Given the description of an element on the screen output the (x, y) to click on. 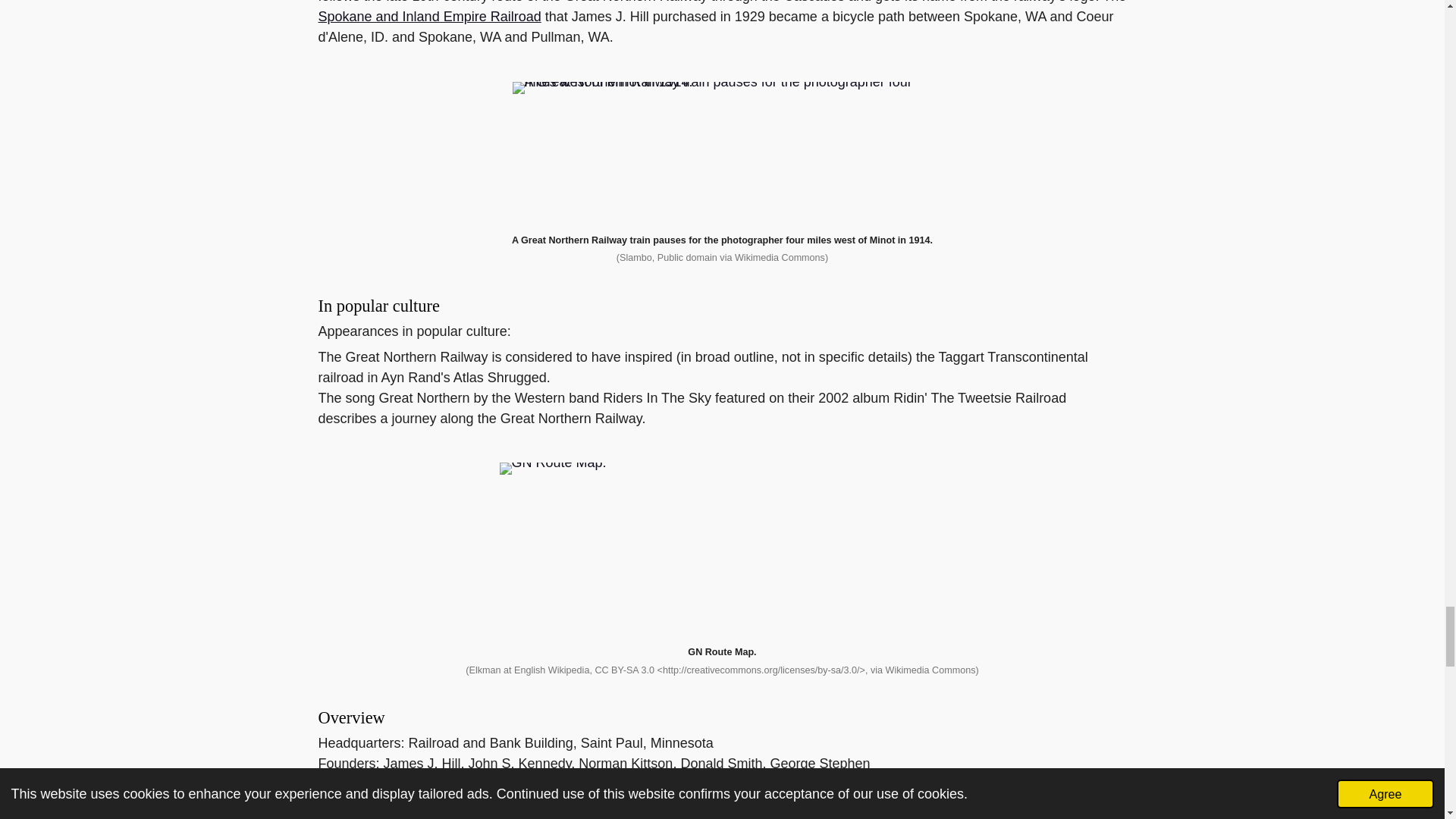
Show large version (722, 150)
Show large version (721, 546)
